Given the description of an element on the screen output the (x, y) to click on. 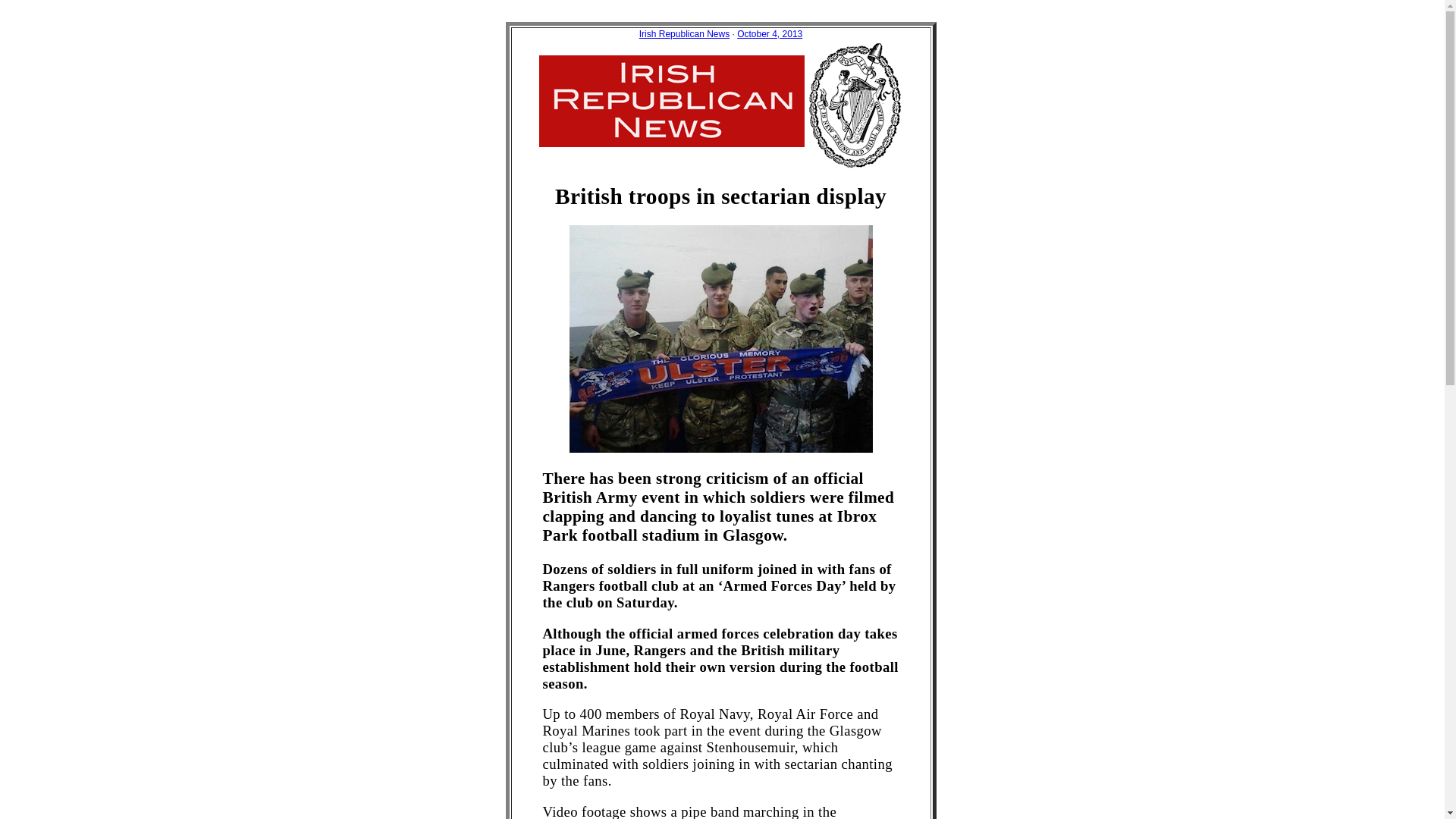
Irish Republican News (684, 33)
October 4, 2013 (769, 33)
